Given the description of an element on the screen output the (x, y) to click on. 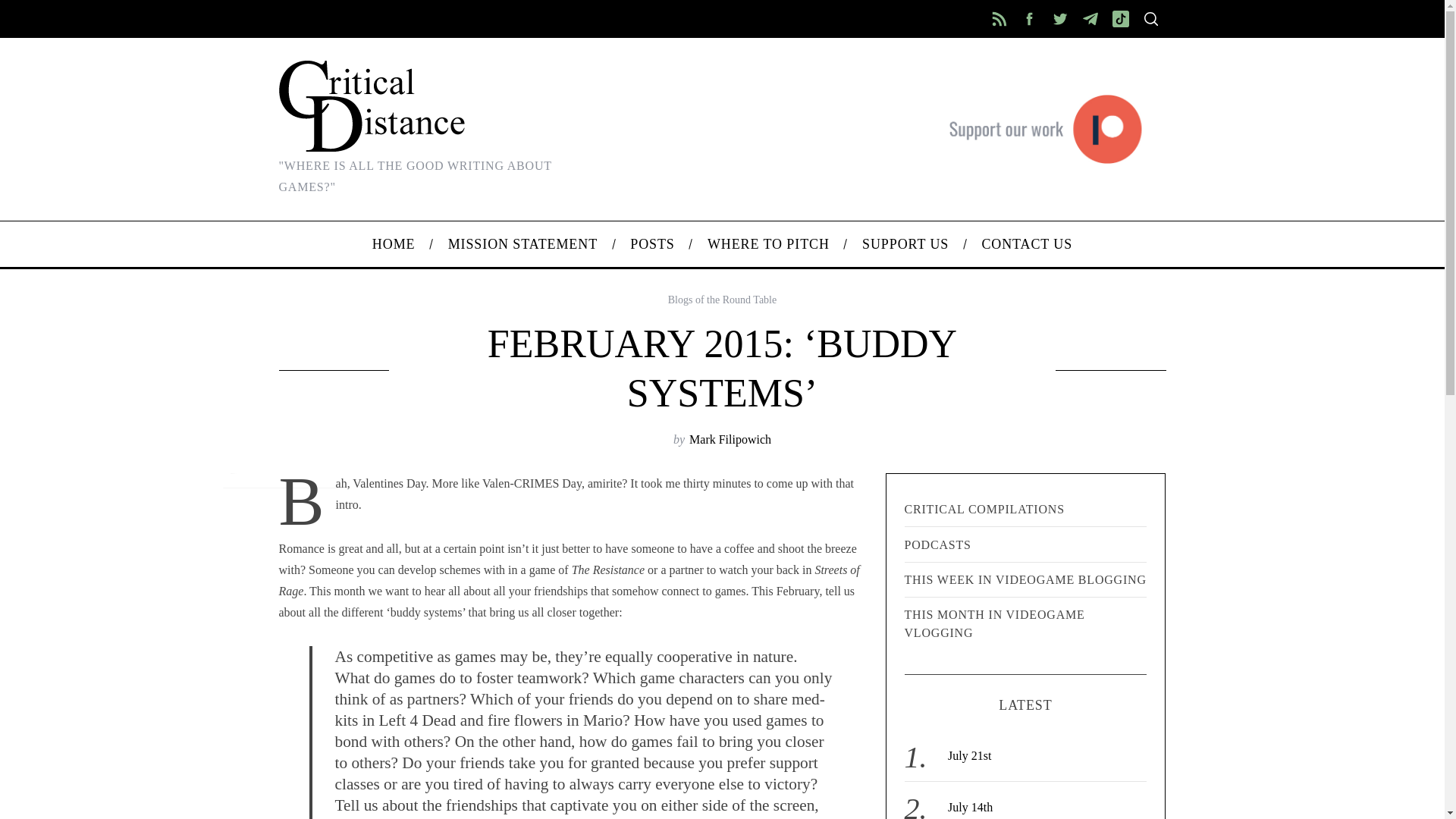
CONTACT US (1027, 243)
July 14th (969, 807)
WHERE TO PITCH (767, 243)
July 21st (969, 755)
POSTS (652, 243)
CRITICAL COMPILATIONS (1025, 509)
THIS WEEK IN VIDEOGAME BLOGGING (1025, 579)
PODCASTS (1025, 544)
SUPPORT US (904, 243)
THIS MONTH IN VIDEOGAME VLOGGING (1025, 623)
